Given the description of an element on the screen output the (x, y) to click on. 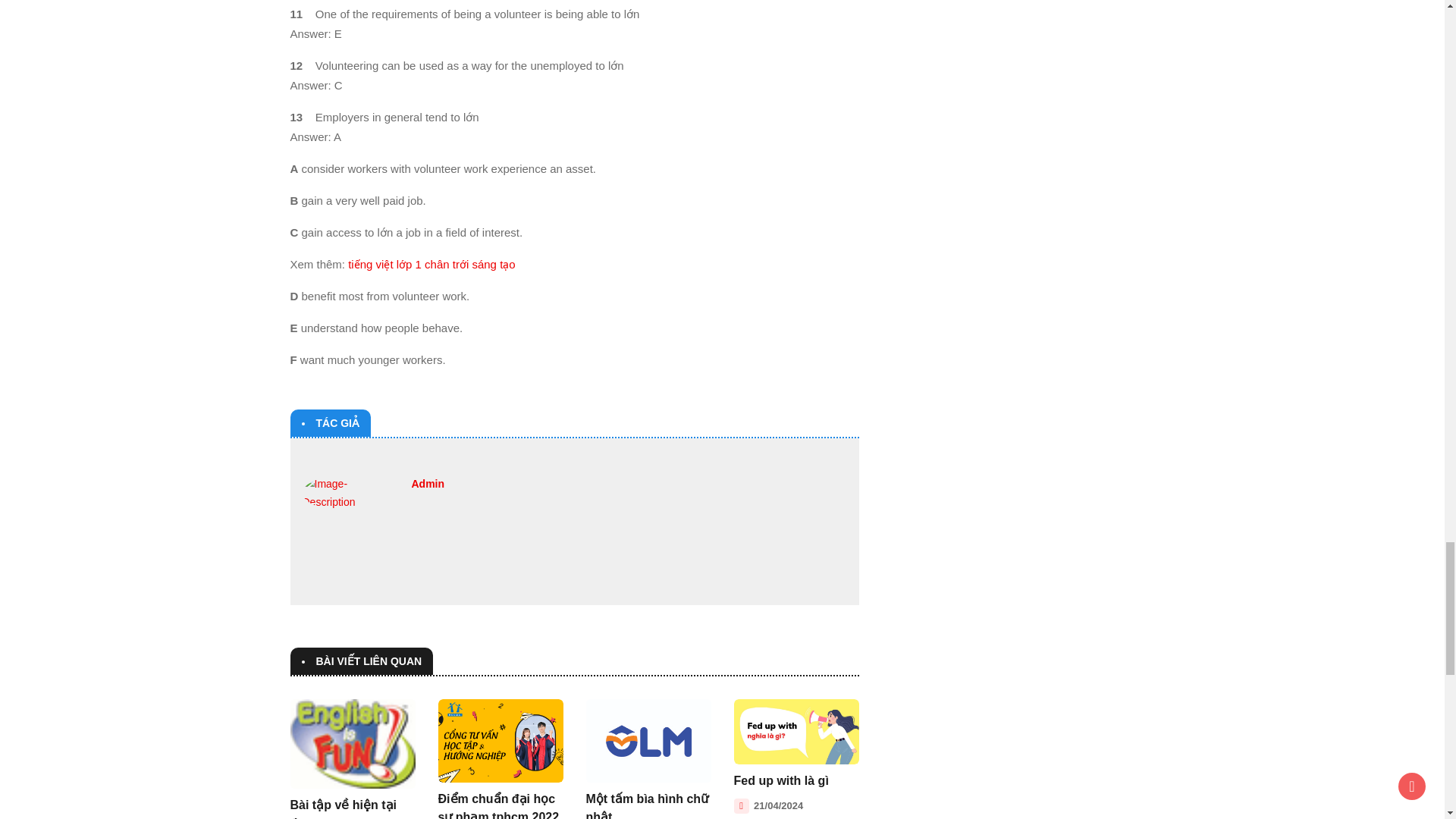
Admin (427, 483)
